Given the description of an element on the screen output the (x, y) to click on. 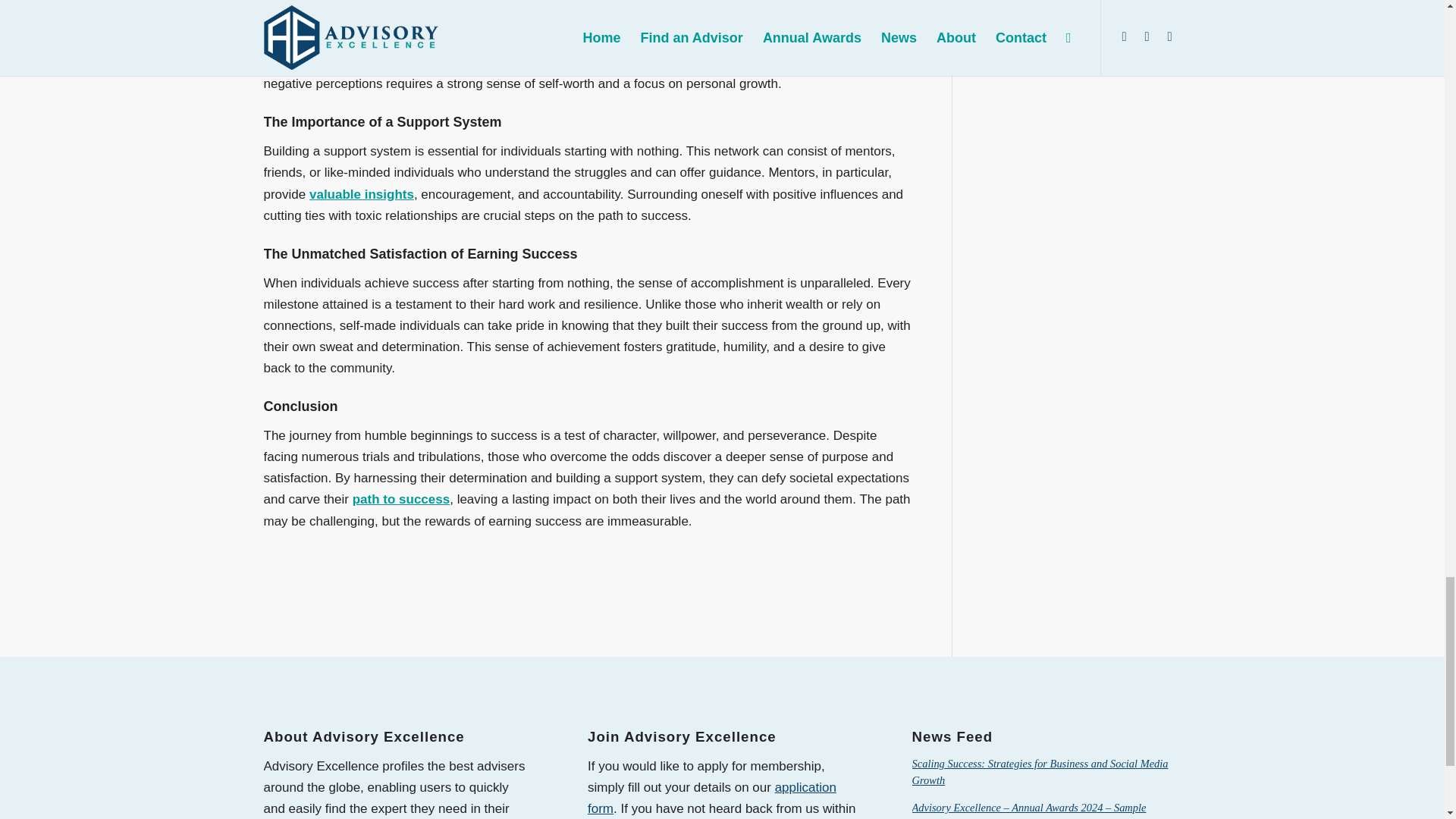
path to success (400, 499)
valuable insights (360, 194)
